Given the description of an element on the screen output the (x, y) to click on. 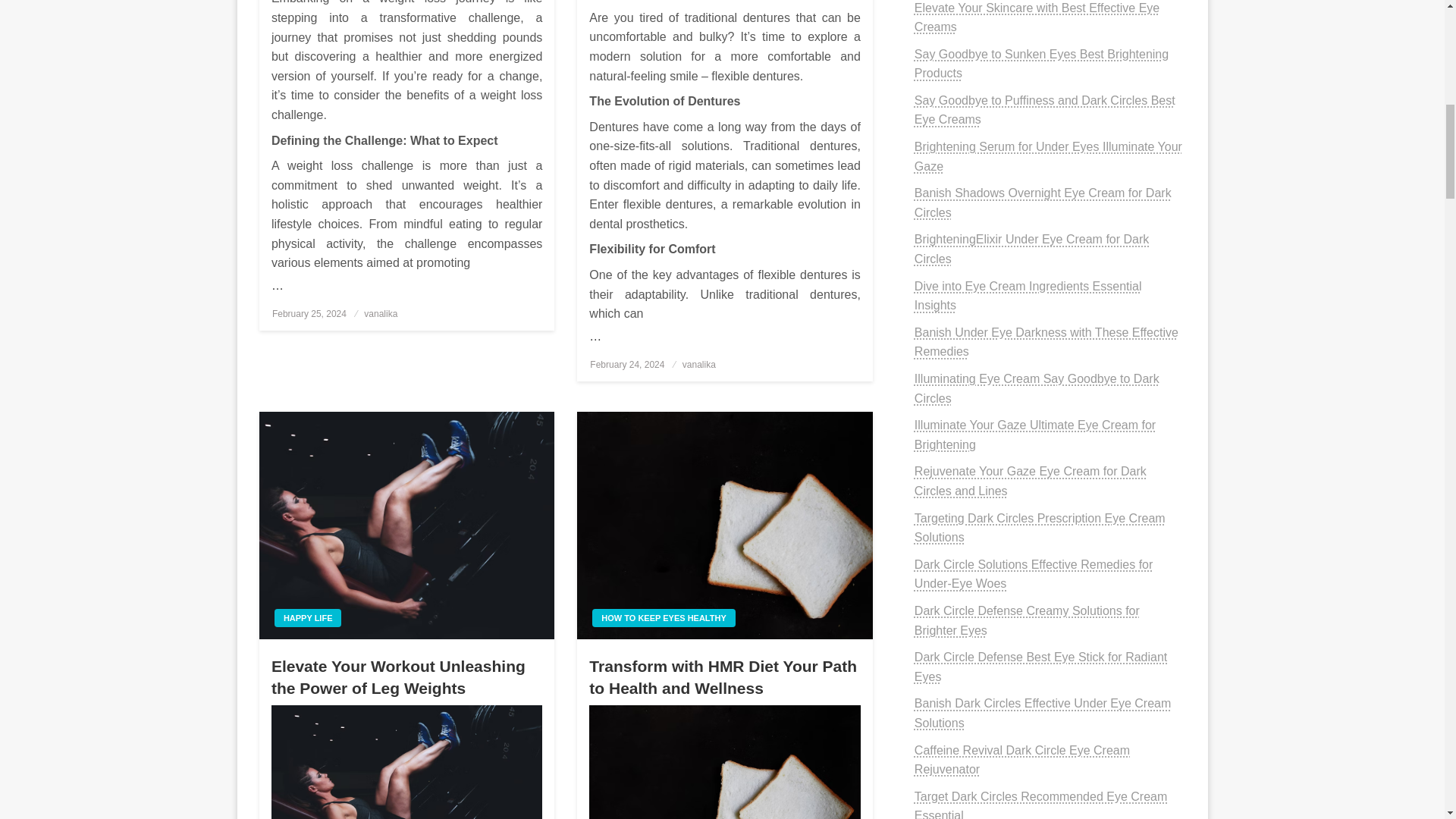
vanalika (380, 313)
vanalika (699, 364)
vanalika (380, 313)
February 25, 2024 (309, 313)
Elevate Your Workout Unleashing the Power of Leg Weights (405, 677)
vanalika (699, 364)
HAPPY LIFE (308, 617)
February 24, 2024 (626, 364)
